Given the description of an element on the screen output the (x, y) to click on. 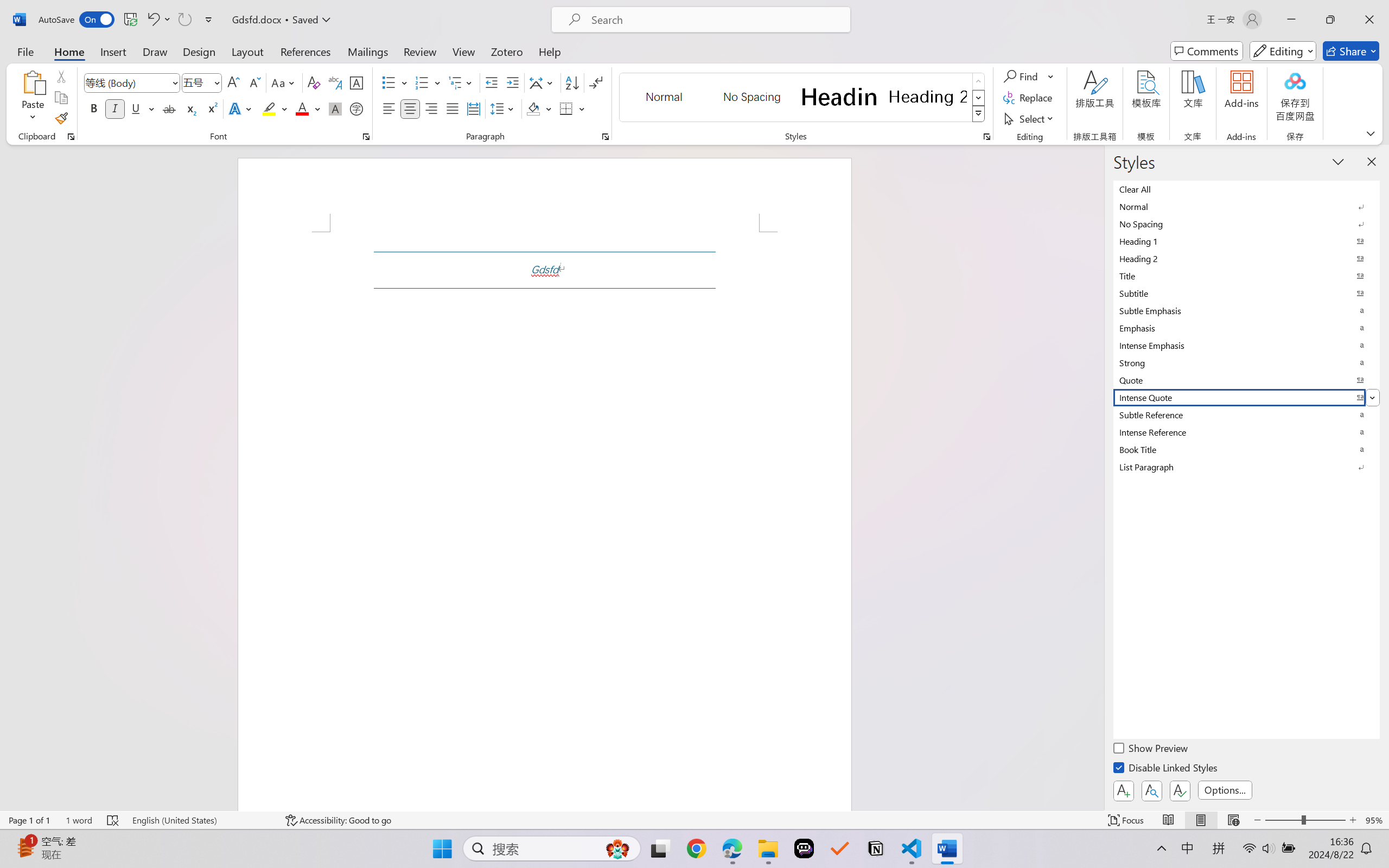
Show/Hide Editing Marks (595, 82)
Page 1 content (544, 521)
Intense Quote (1246, 397)
No Spacing (1246, 223)
Quote (1246, 379)
Italic (115, 108)
Normal (1246, 206)
Decrease Indent (491, 82)
Change Case (284, 82)
Sort... (571, 82)
